Given the description of an element on the screen output the (x, y) to click on. 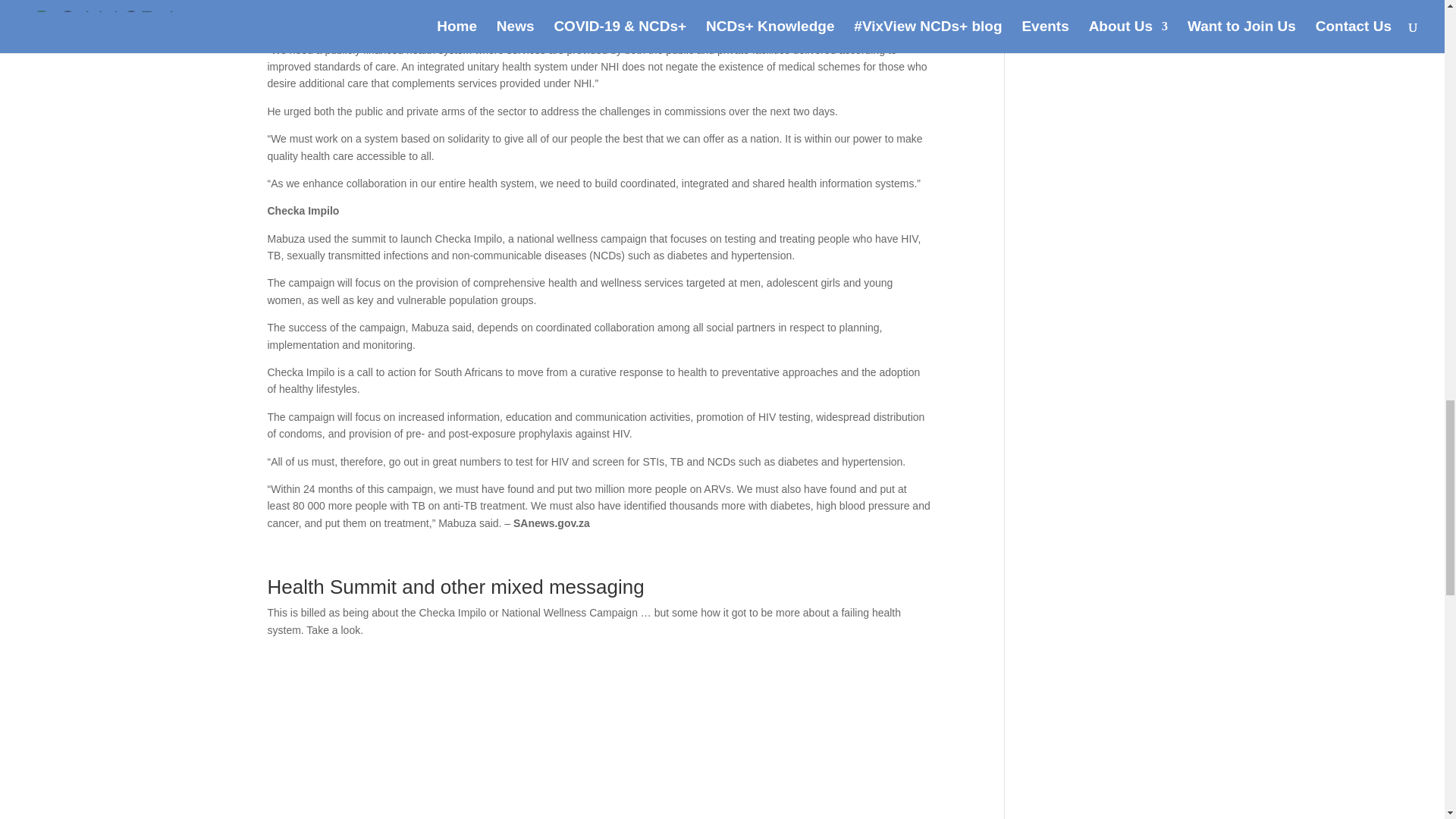
Health Summit and other mixed messaging (454, 586)
National Wellness Campaign "Check Impilo" launched (598, 734)
